Given the description of an element on the screen output the (x, y) to click on. 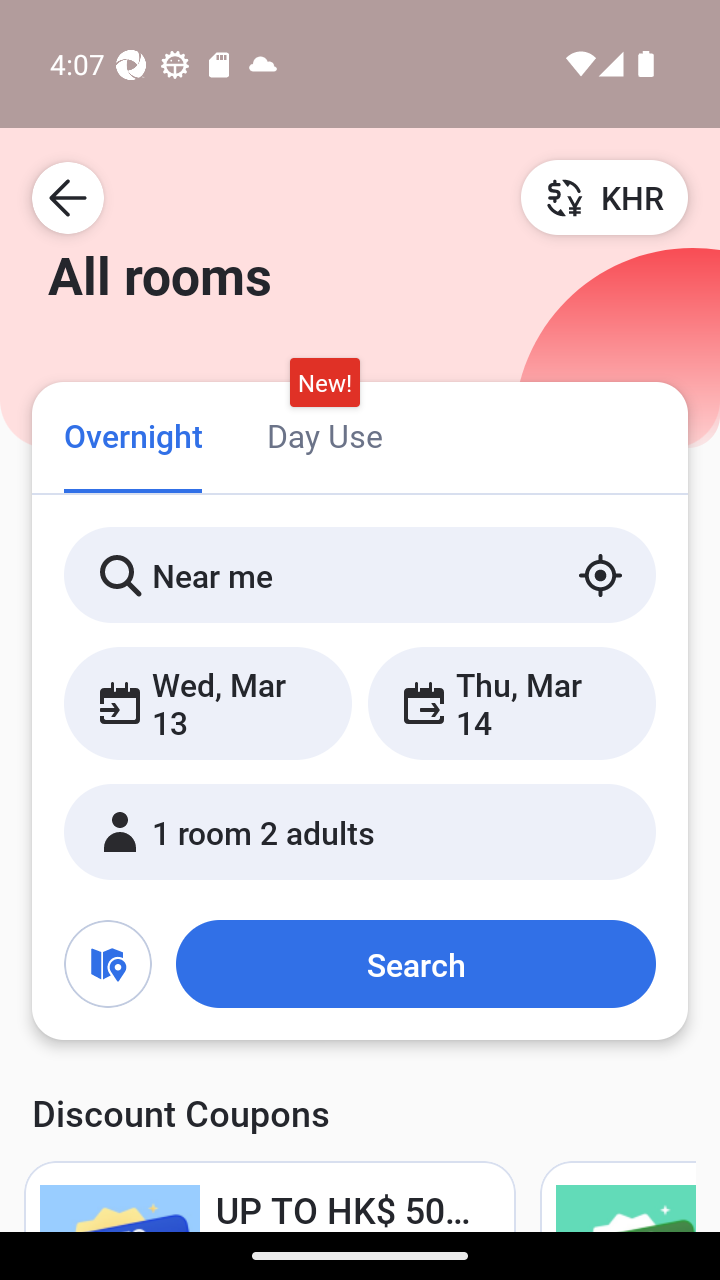
KHR (604, 197)
New! (324, 383)
Day Use (324, 434)
Near me (359, 575)
Wed, Mar 13 (208, 703)
Thu, Mar 14 (511, 703)
1 room 2 adults (359, 831)
Search (415, 964)
